Given the description of an element on the screen output the (x, y) to click on. 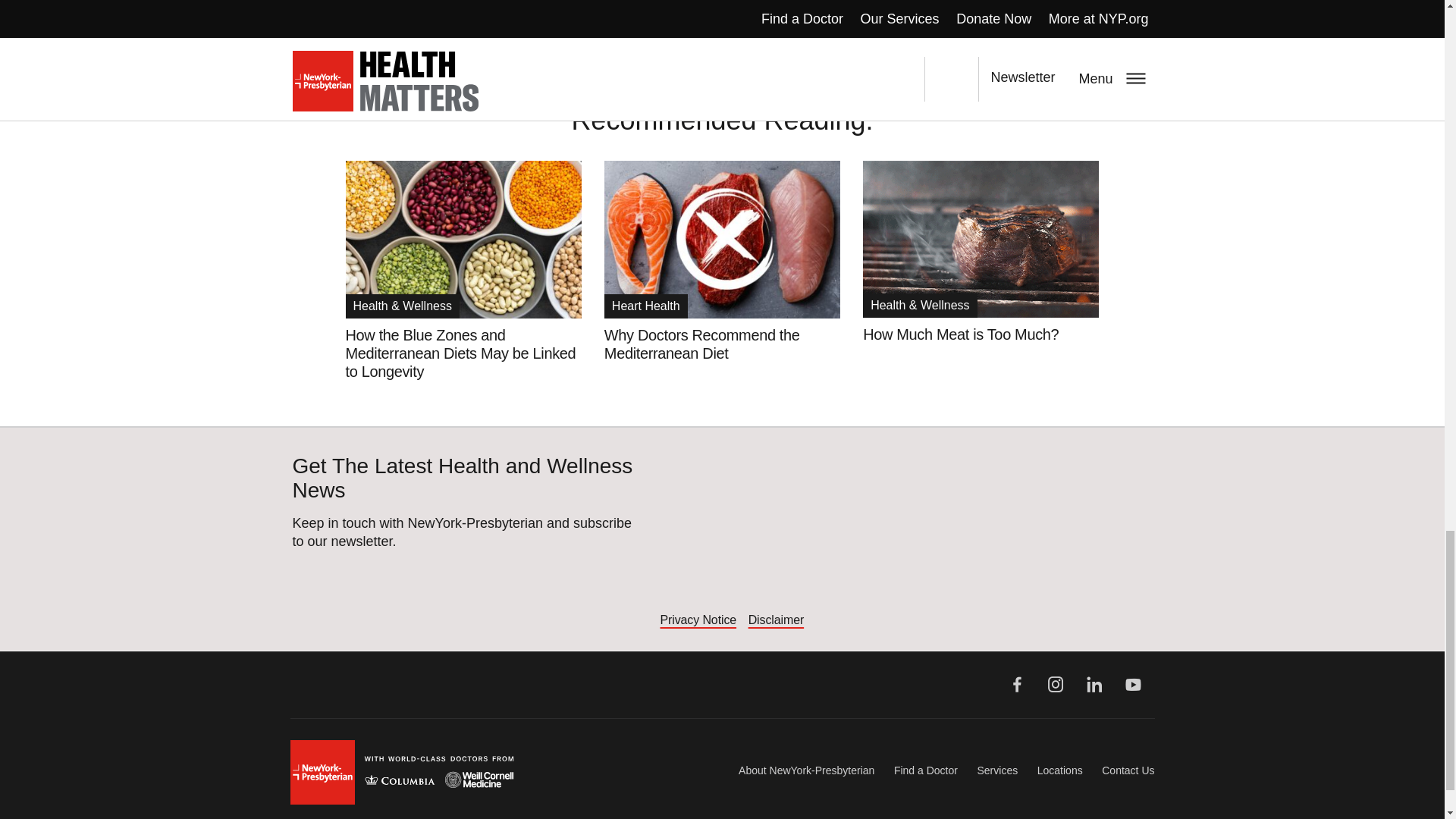
newsletter signup form (905, 533)
Visit nyp.org (401, 772)
